Given the description of an element on the screen output the (x, y) to click on. 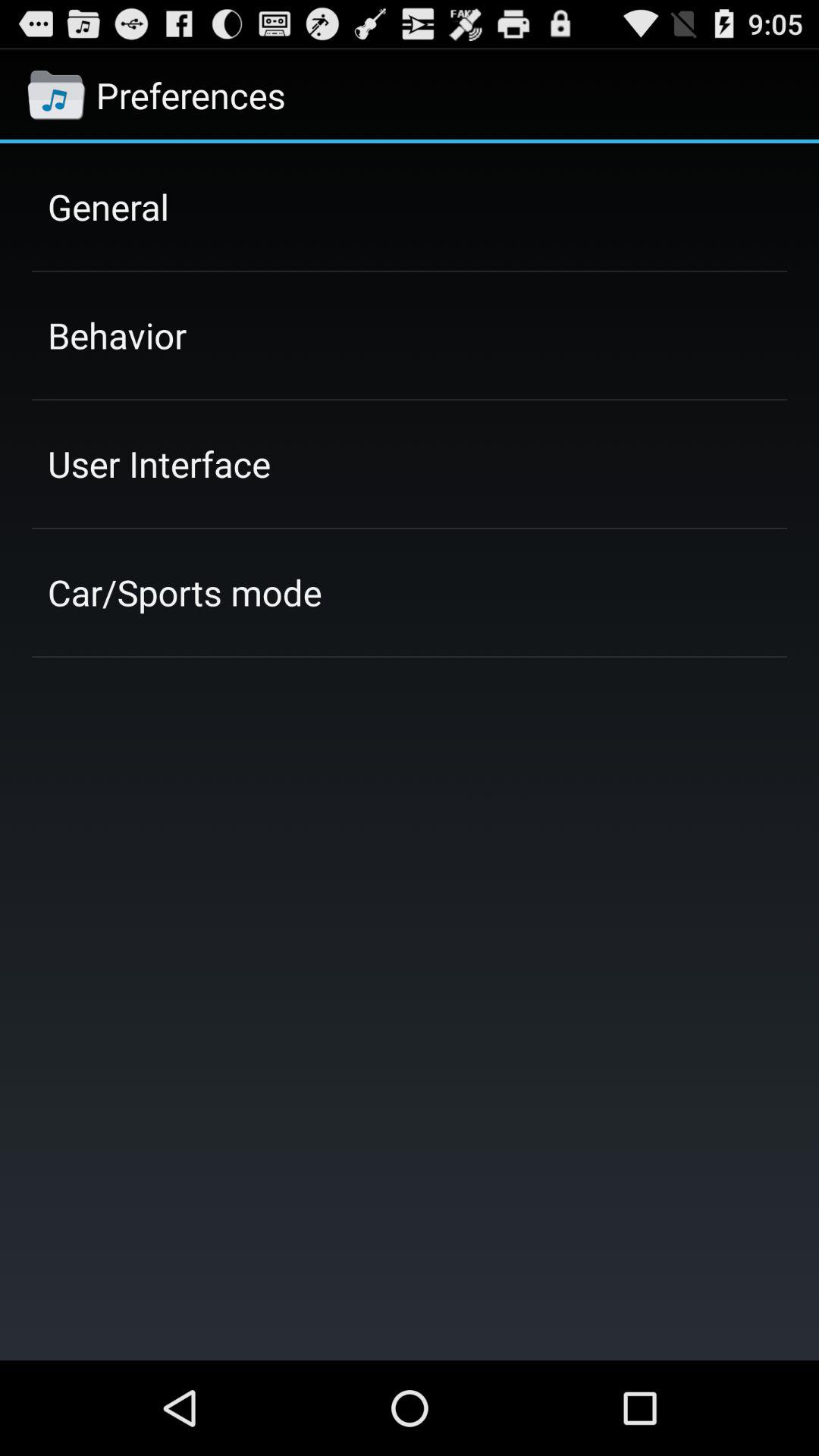
press app above behavior icon (107, 206)
